Given the description of an element on the screen output the (x, y) to click on. 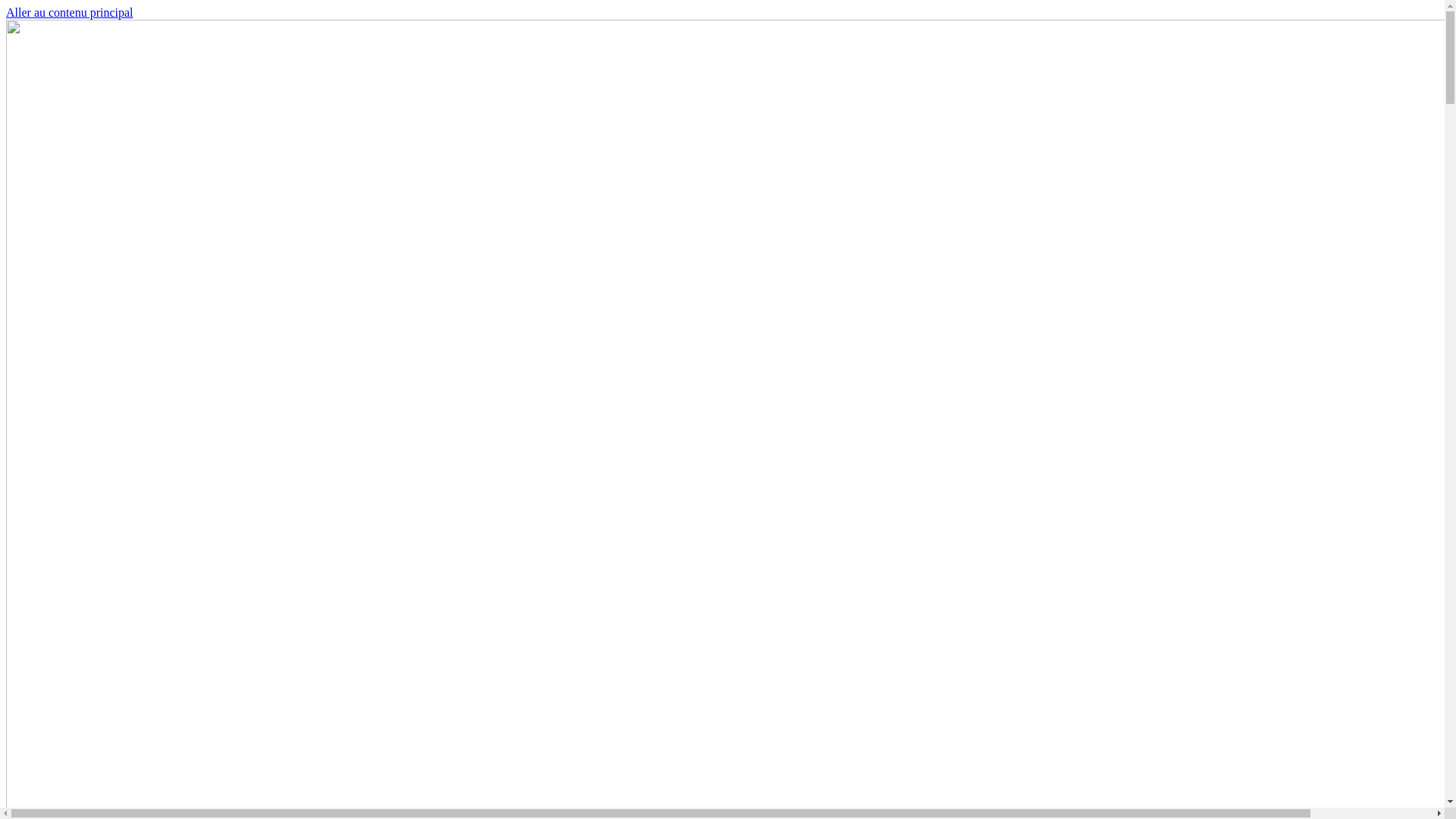
Aller au contenu principal Element type: text (69, 12)
